Given the description of an element on the screen output the (x, y) to click on. 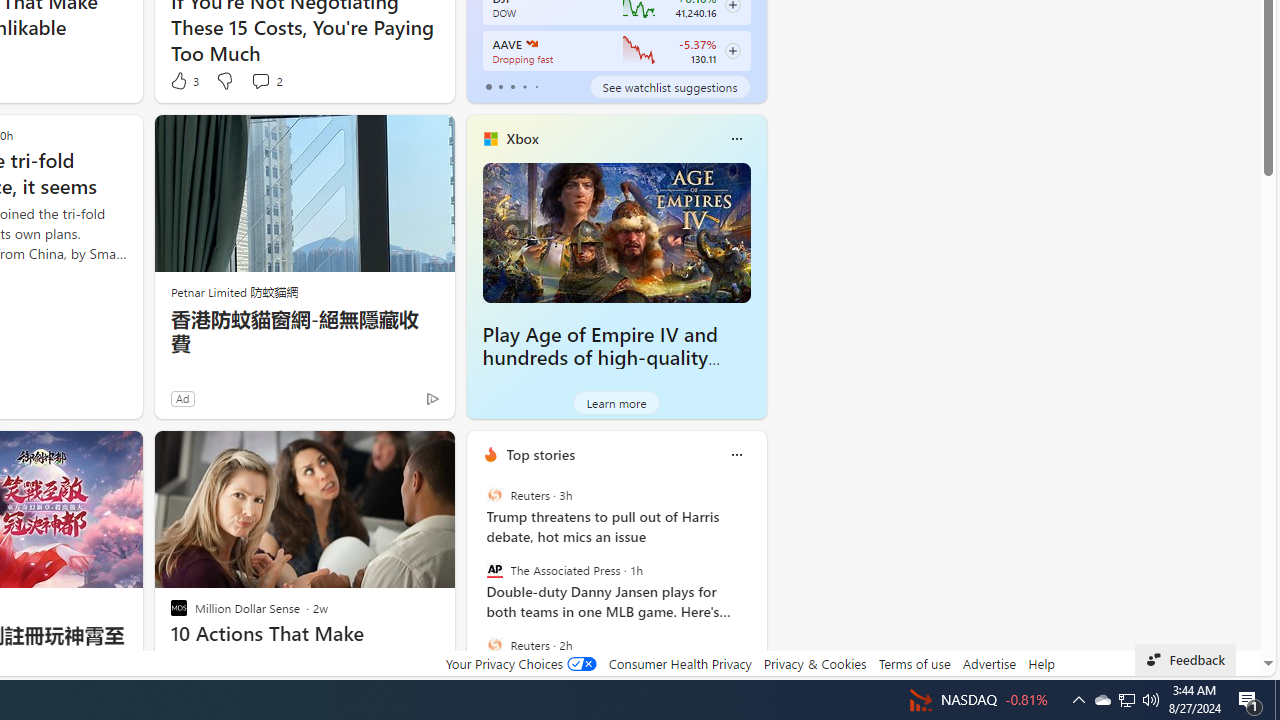
Help (1040, 663)
tab-0 (488, 86)
tab-3 (524, 86)
Aave (530, 43)
Class: follow-button  m (732, 51)
